Given the description of an element on the screen output the (x, y) to click on. 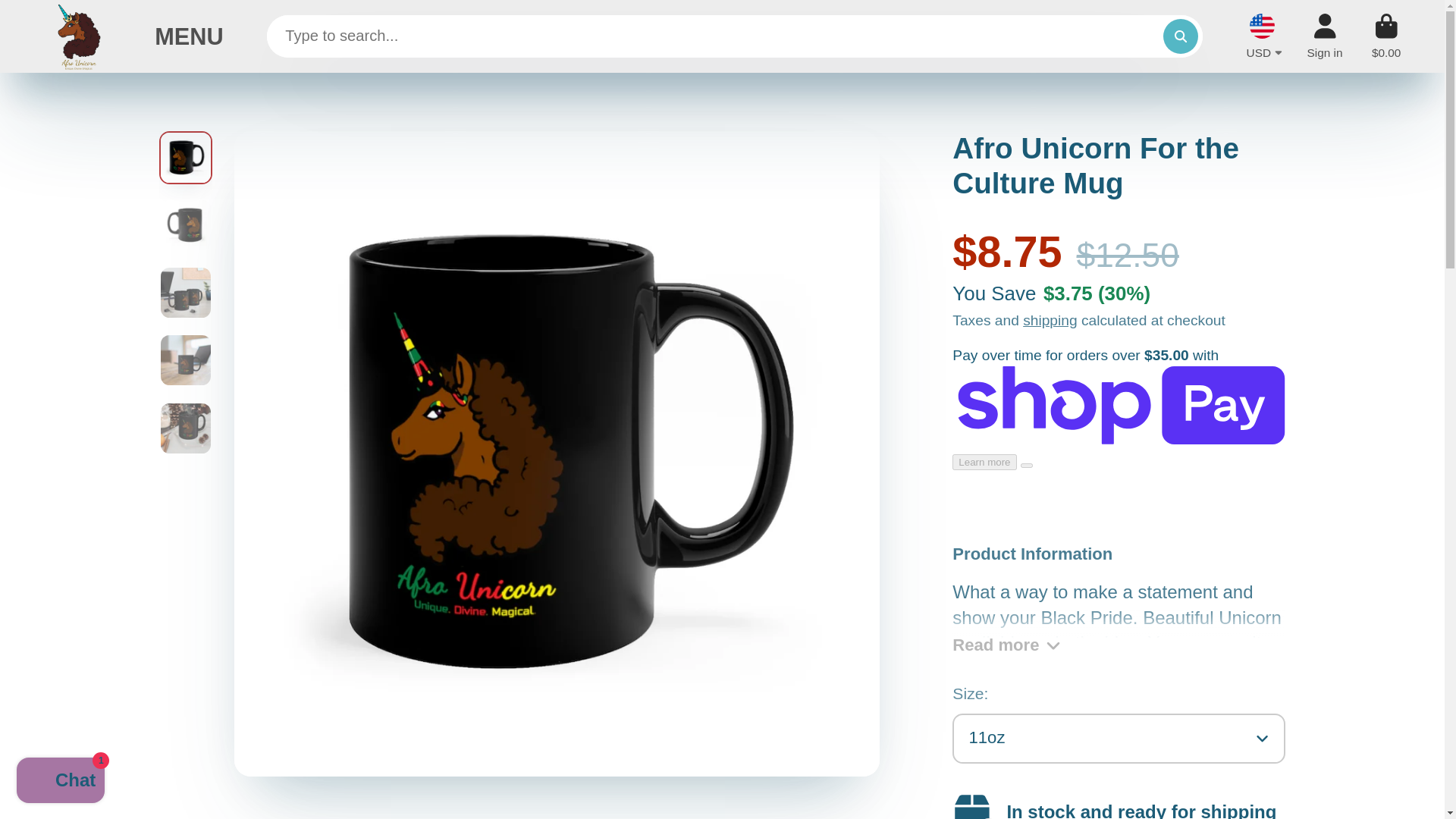
shipping (1050, 320)
Read more (1118, 630)
Shopify online store chat (60, 781)
Logo (79, 36)
